Given the description of an element on the screen output the (x, y) to click on. 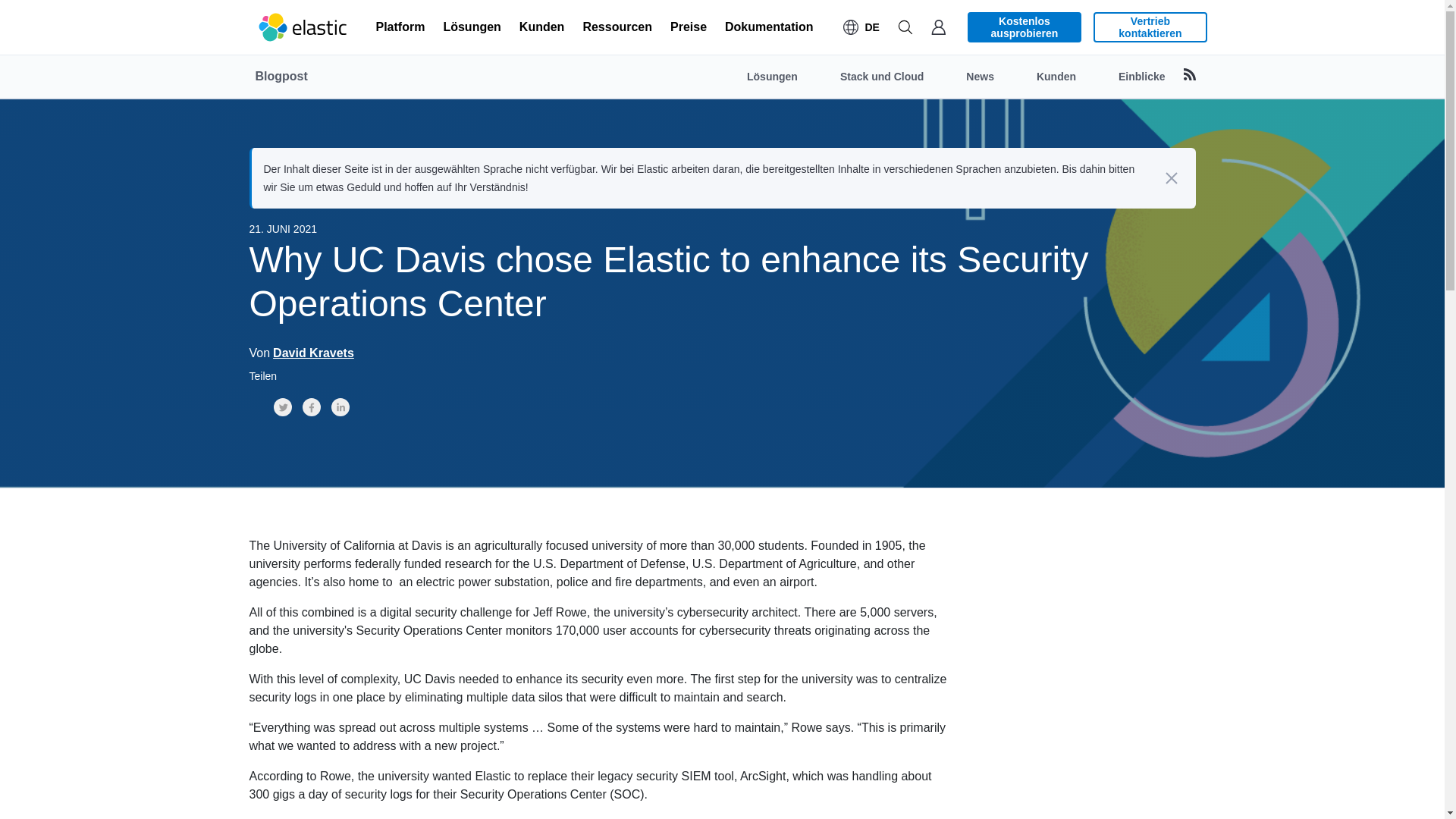
Auf Twitter teilen (282, 407)
Elastic (303, 27)
Auf Facebook teilen (310, 407)
Kostenlos ausprobieren (1024, 27)
Platform (399, 27)
Search (904, 27)
Vertrieb kontaktieren (1150, 27)
Login (938, 27)
Auf LinkedIn teilen (339, 407)
DE (861, 27)
